Given the description of an element on the screen output the (x, y) to click on. 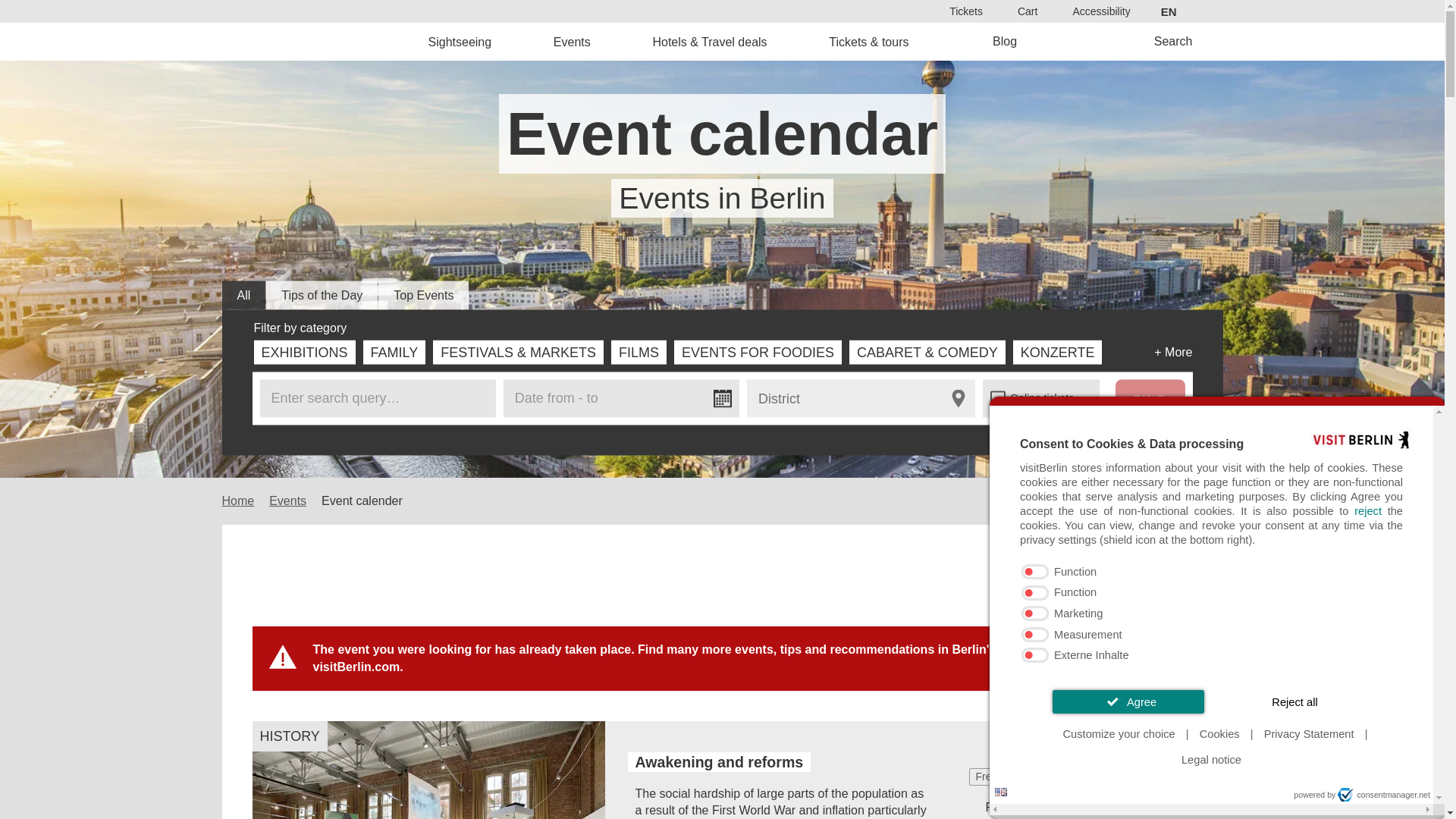
Agree (1128, 701)
reject (1367, 510)
consentmanager.net (1383, 794)
Find (768, 432)
Purpose (1211, 614)
Customize your choice (1118, 734)
Legal notice (1211, 759)
Privacy Statement (1308, 734)
Language: en (1000, 791)
Sightseeing (460, 41)
Reject all (1295, 701)
Language: en (1000, 791)
Home (327, 41)
Find (1150, 397)
Events (571, 41)
